Given the description of an element on the screen output the (x, y) to click on. 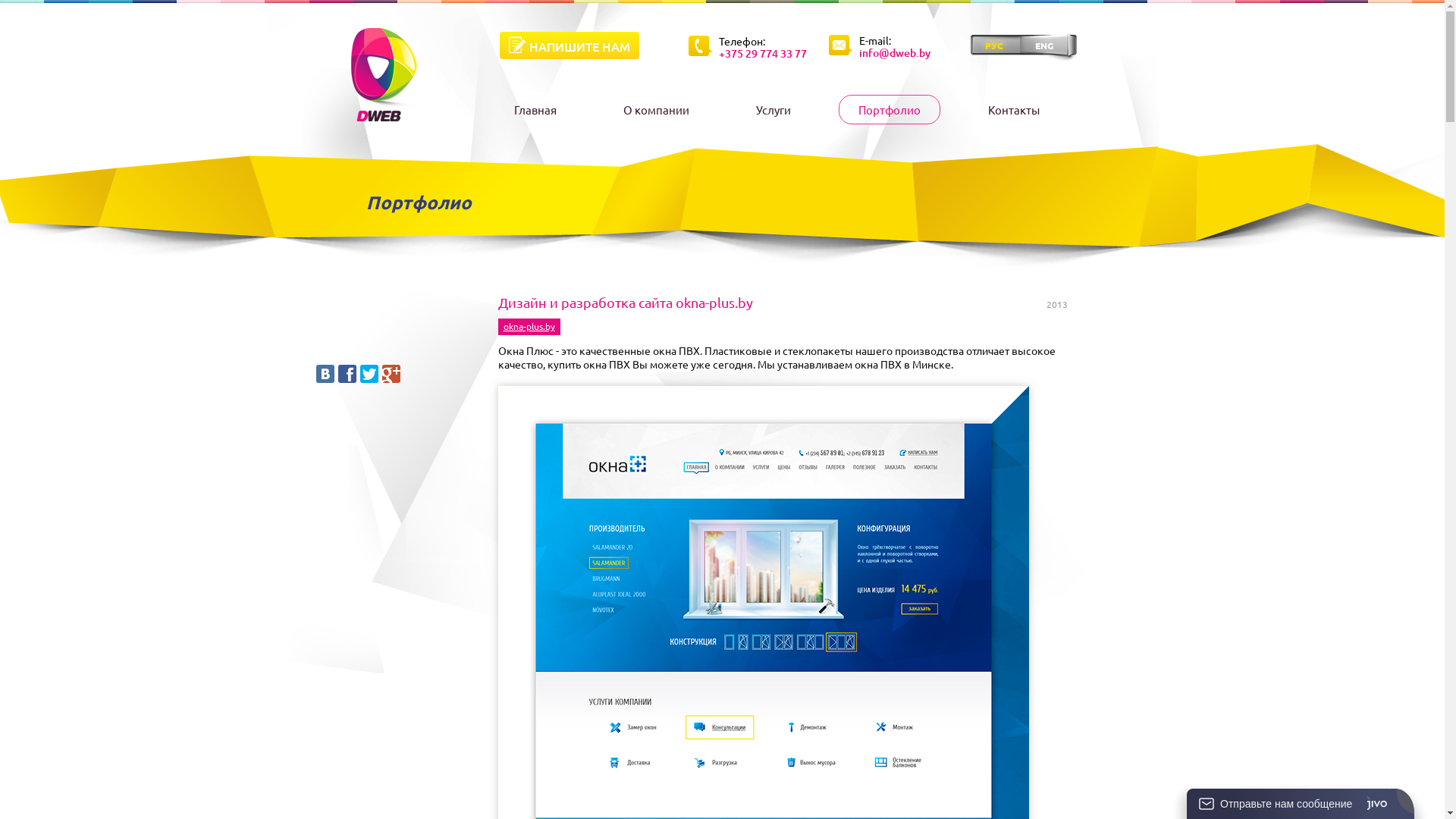
Facebook Element type: hover (347, 373)
Twitter Element type: hover (368, 373)
okna-plus.by Element type: text (529, 326)
Google Plus Element type: hover (391, 373)
ENG Element type: text (1046, 45)
info@dweb.by Element type: text (893, 54)
